Given the description of an element on the screen output the (x, y) to click on. 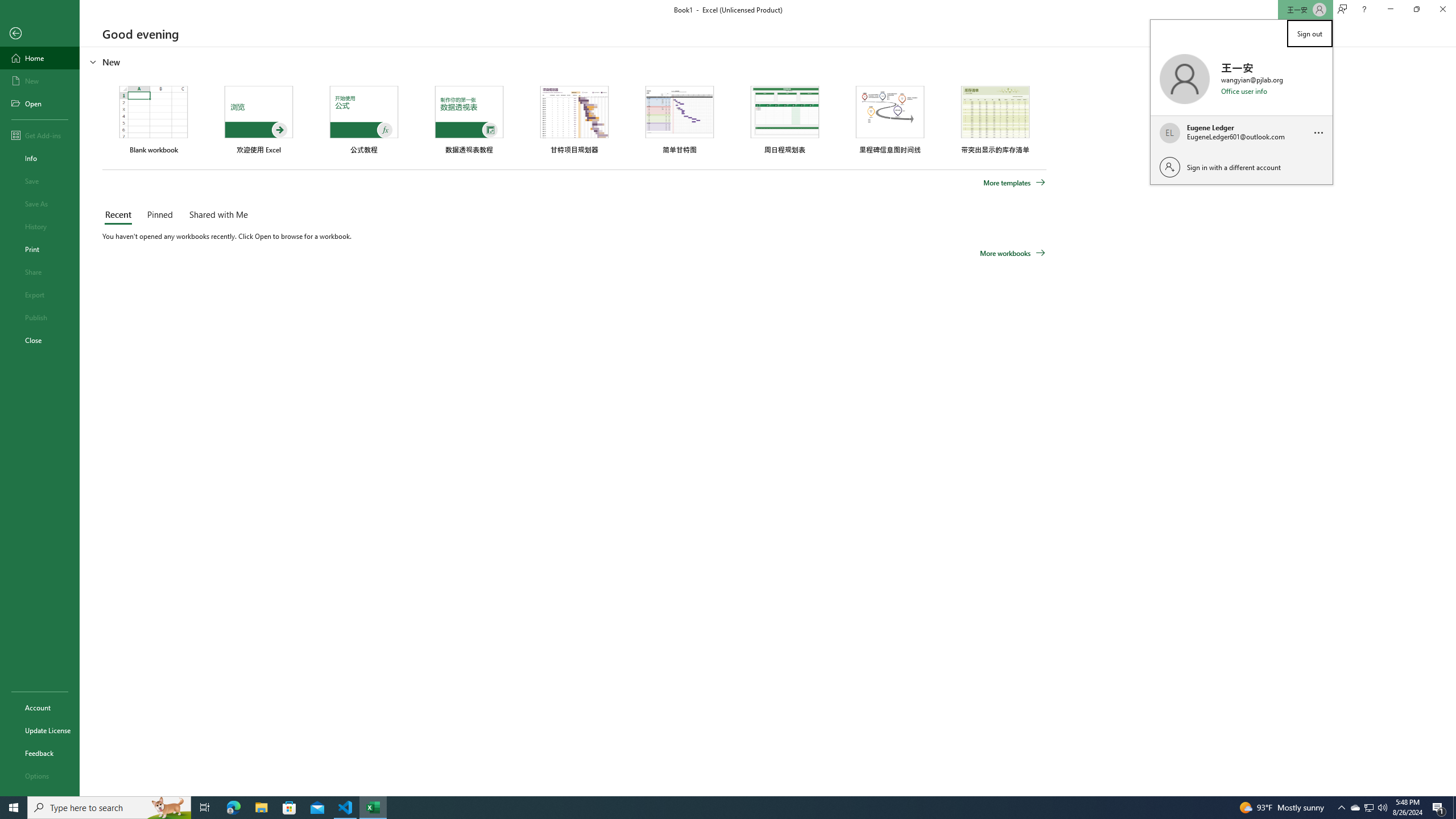
Info (40, 157)
More templates (1014, 182)
